Given the description of an element on the screen output the (x, y) to click on. 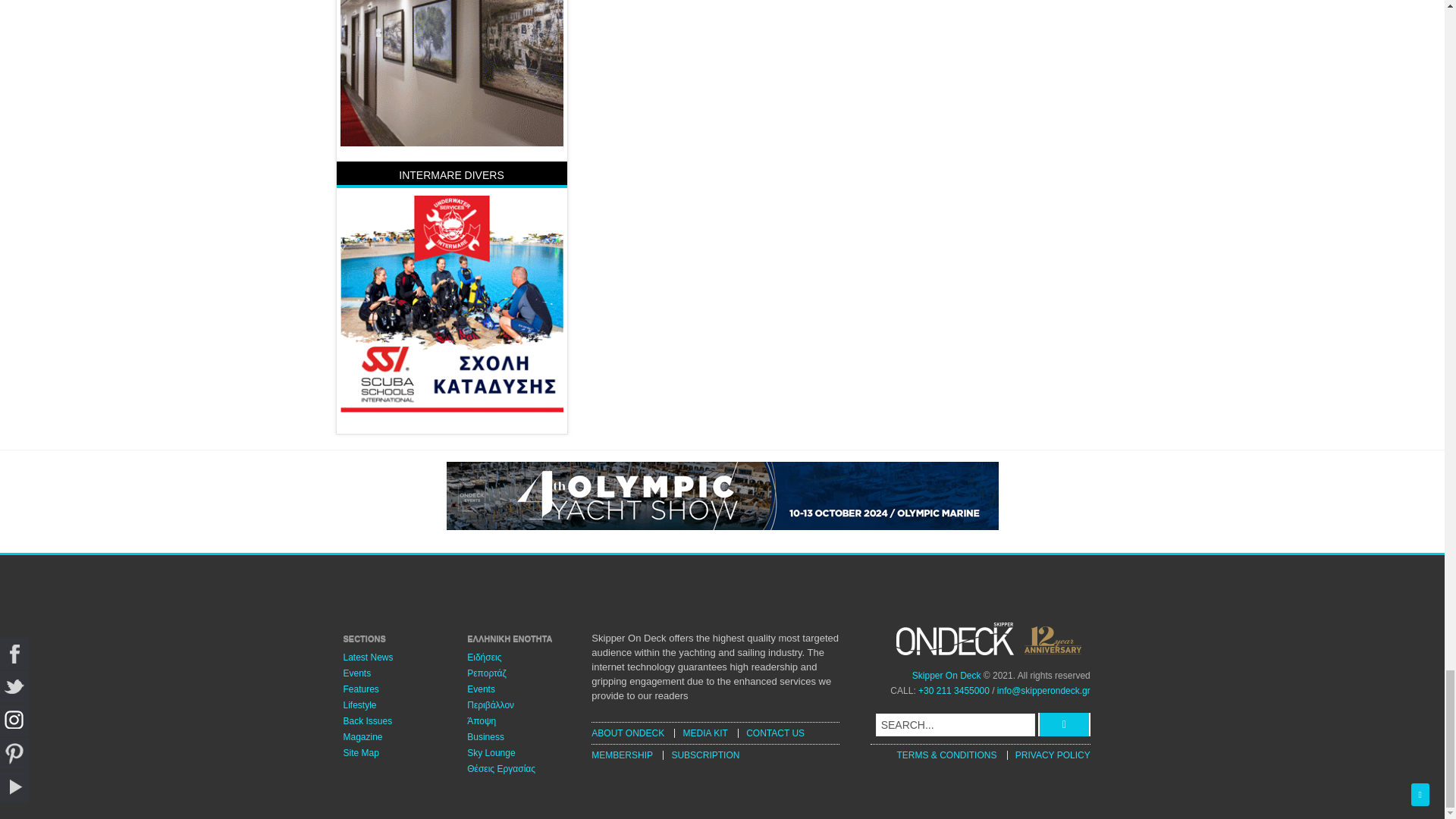
SEARCH... (955, 724)
